Given the description of an element on the screen output the (x, y) to click on. 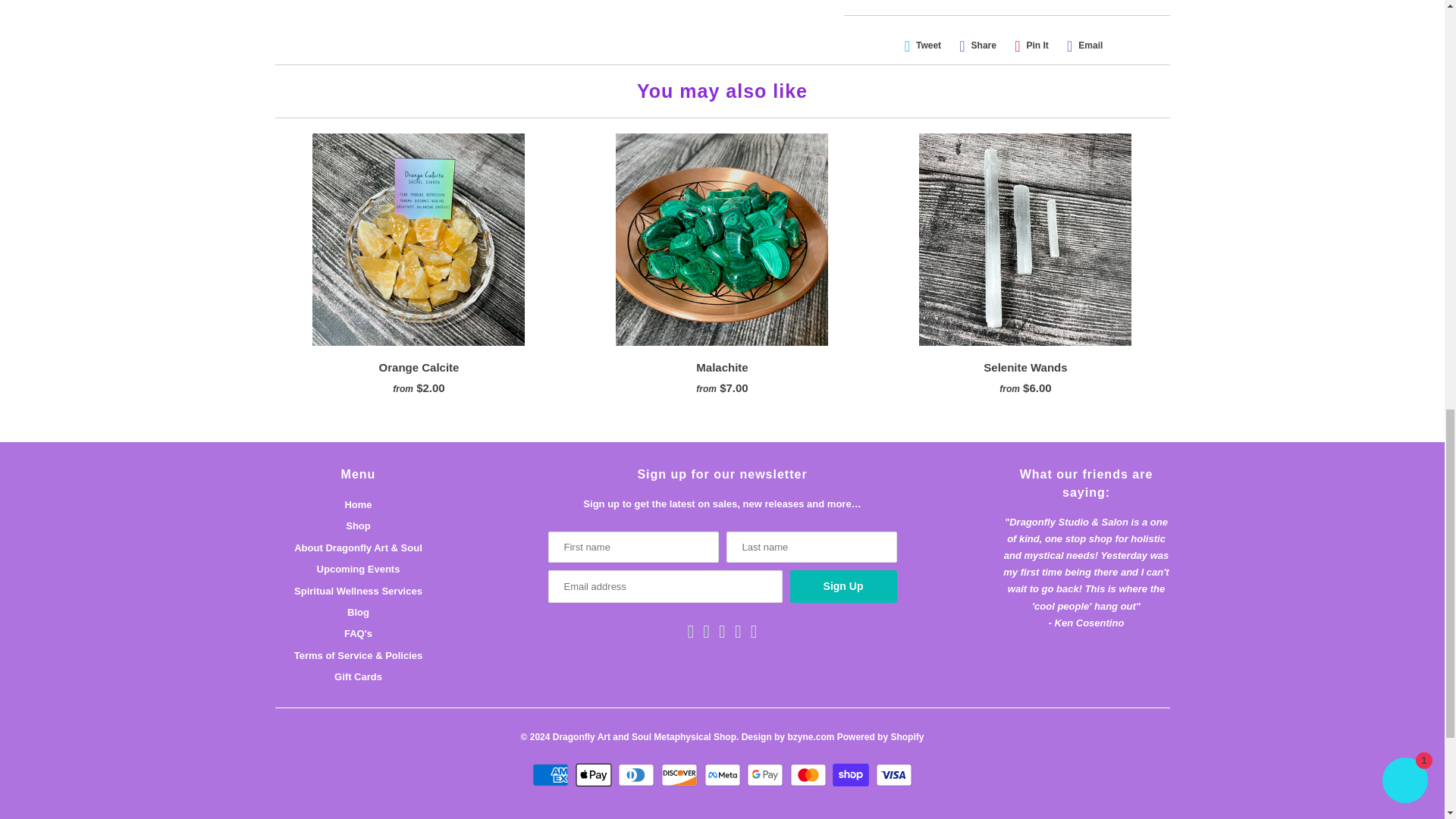
Shop Pay (852, 774)
Sign Up (843, 586)
Discover (681, 774)
Meta Pay (723, 774)
Visa (894, 774)
Apple Pay (595, 774)
Mastercard (809, 774)
Diners Club (637, 774)
American Express (552, 774)
Google Pay (766, 774)
